Given the description of an element on the screen output the (x, y) to click on. 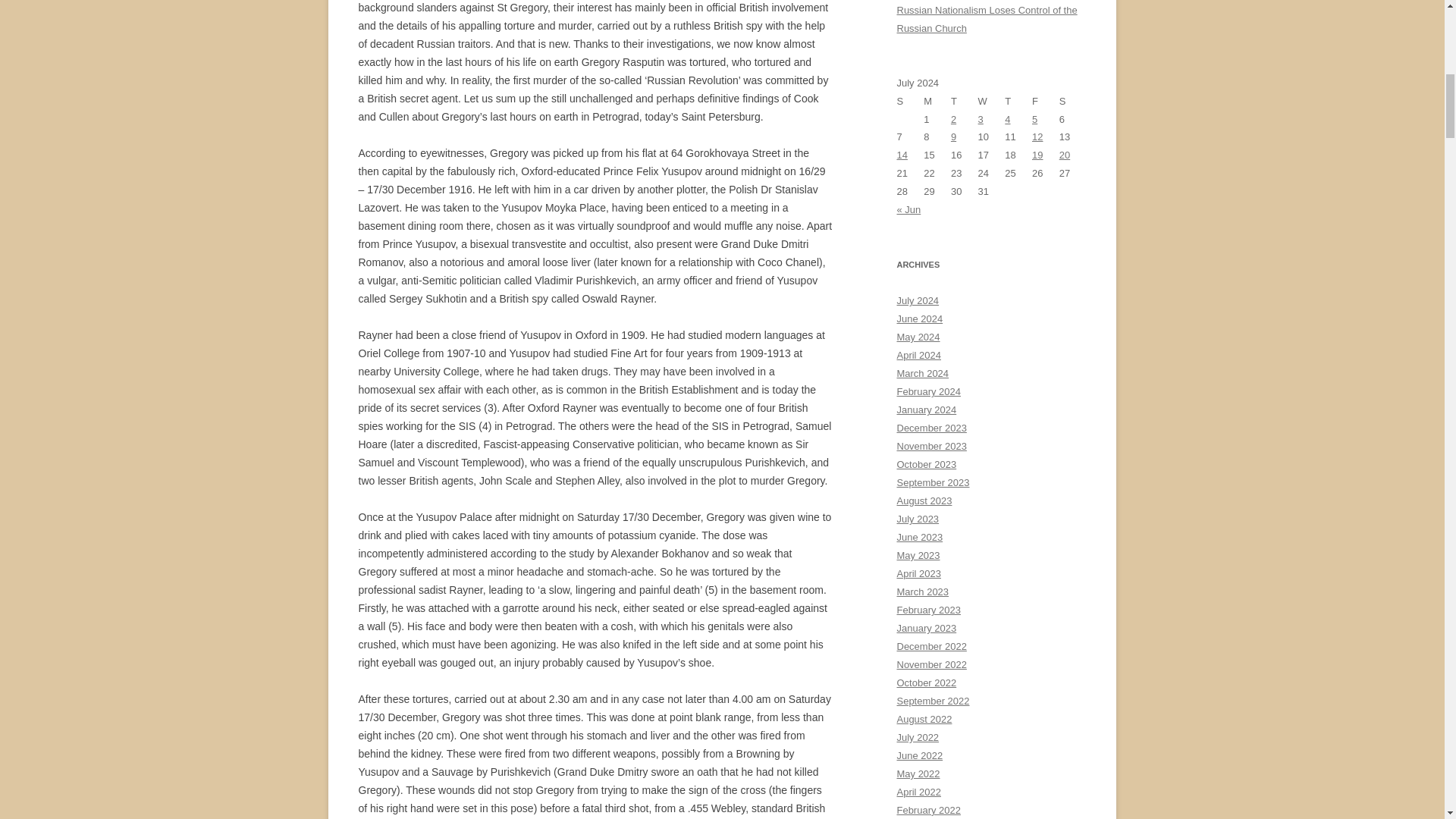
Thursday (1018, 101)
Saturday (1072, 101)
Wednesday (992, 101)
Tuesday (964, 101)
Sunday (909, 101)
Monday (936, 101)
Friday (1045, 101)
